Given the description of an element on the screen output the (x, y) to click on. 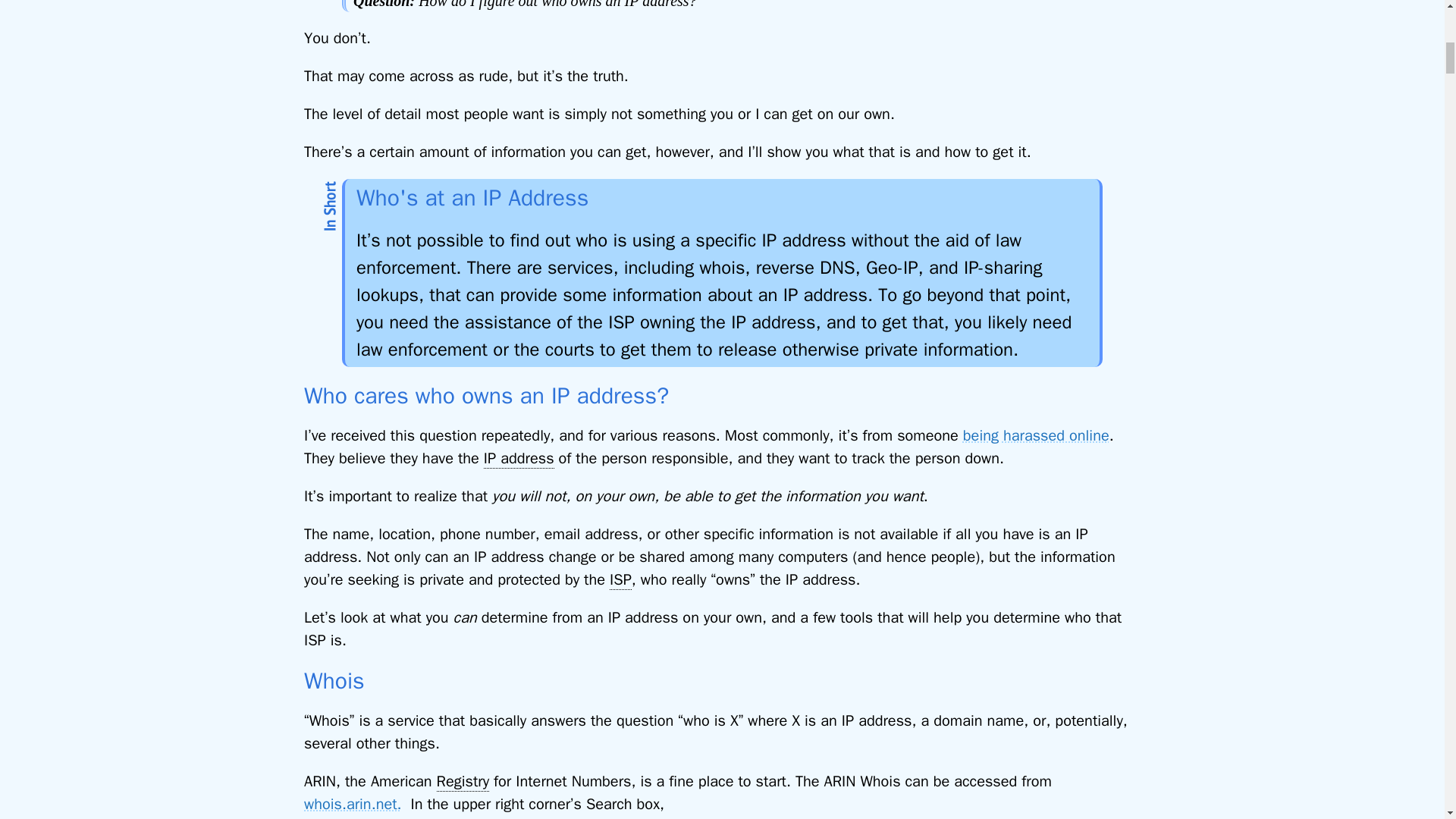
Scroll back to top (1406, 720)
ISP (620, 579)
Registry (462, 781)
whois.arin.net. (352, 804)
being harassed online (1035, 435)
IP address (518, 458)
